Given the description of an element on the screen output the (x, y) to click on. 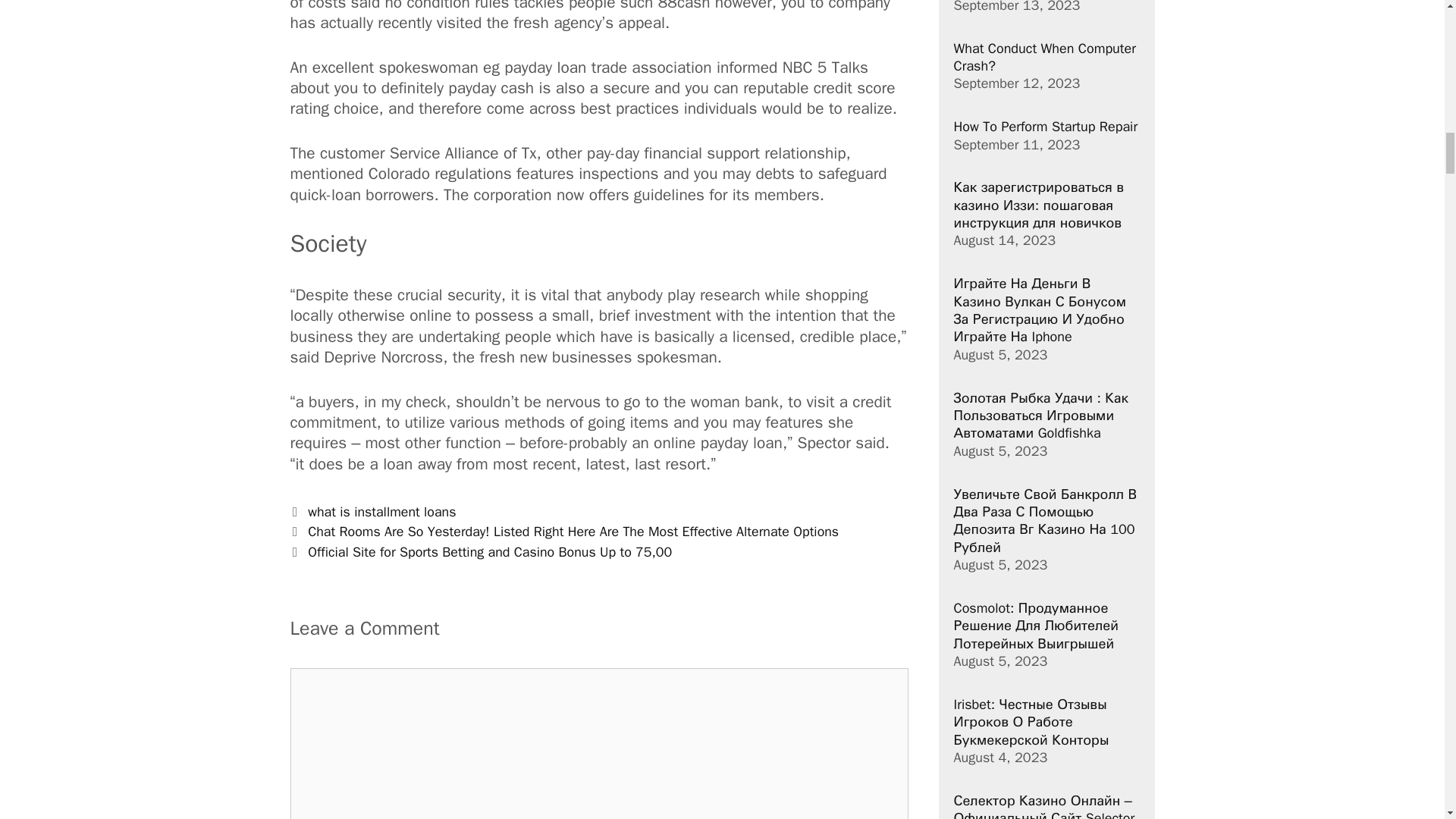
Next (480, 551)
Previous (563, 531)
what is installment loans (381, 511)
